Given the description of an element on the screen output the (x, y) to click on. 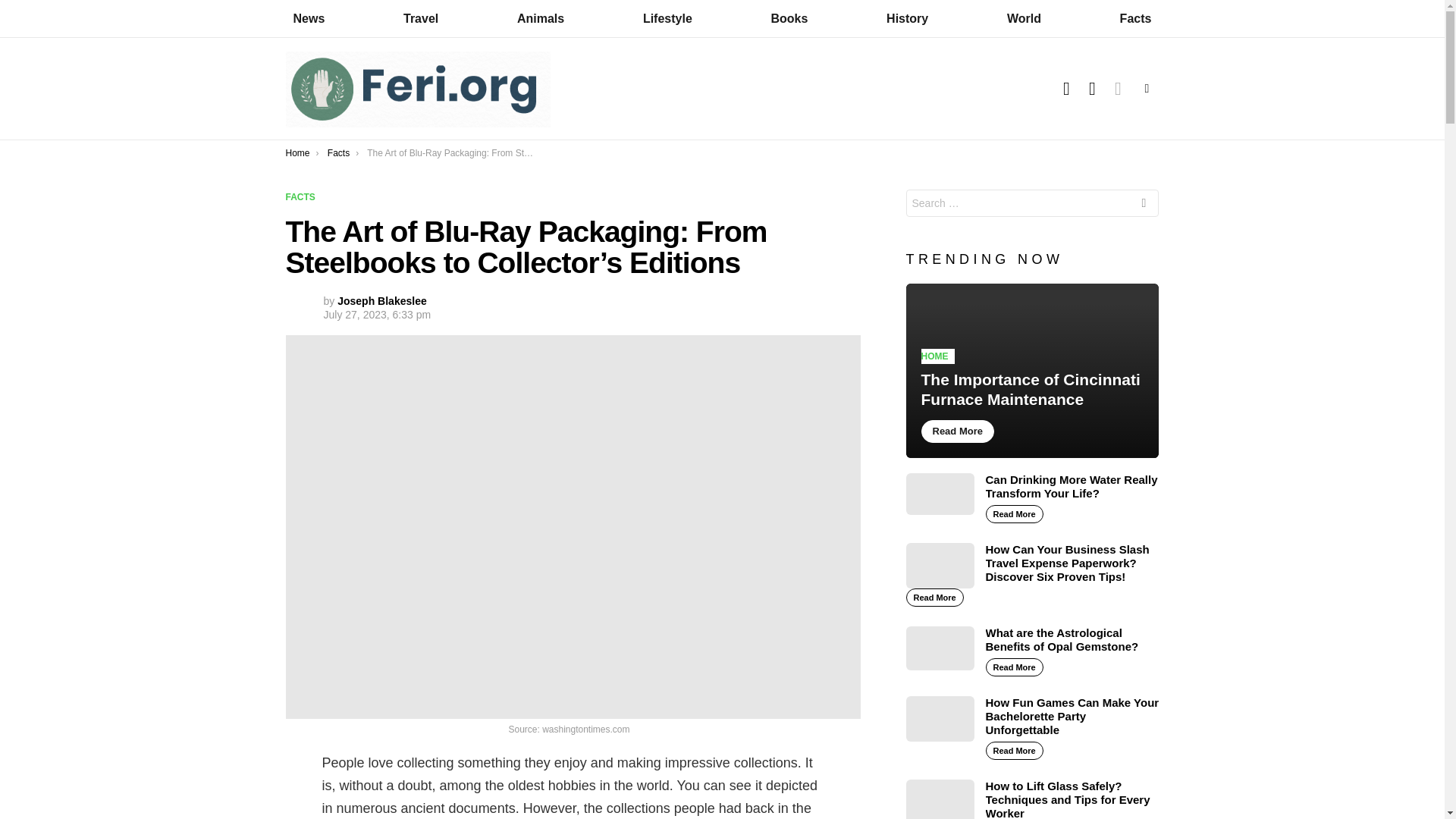
Facts (1135, 18)
Home (296, 153)
Animals (540, 18)
The Importance of Cincinnati Furnace Maintenance (1031, 370)
Books (788, 18)
Menu (1146, 88)
Lifestyle (667, 18)
Search for: (1031, 203)
SEARCH (1091, 88)
FACTS (302, 196)
News (308, 18)
History (907, 18)
World (1023, 18)
Travel (420, 18)
LOGIN (1066, 88)
